Given the description of an element on the screen output the (x, y) to click on. 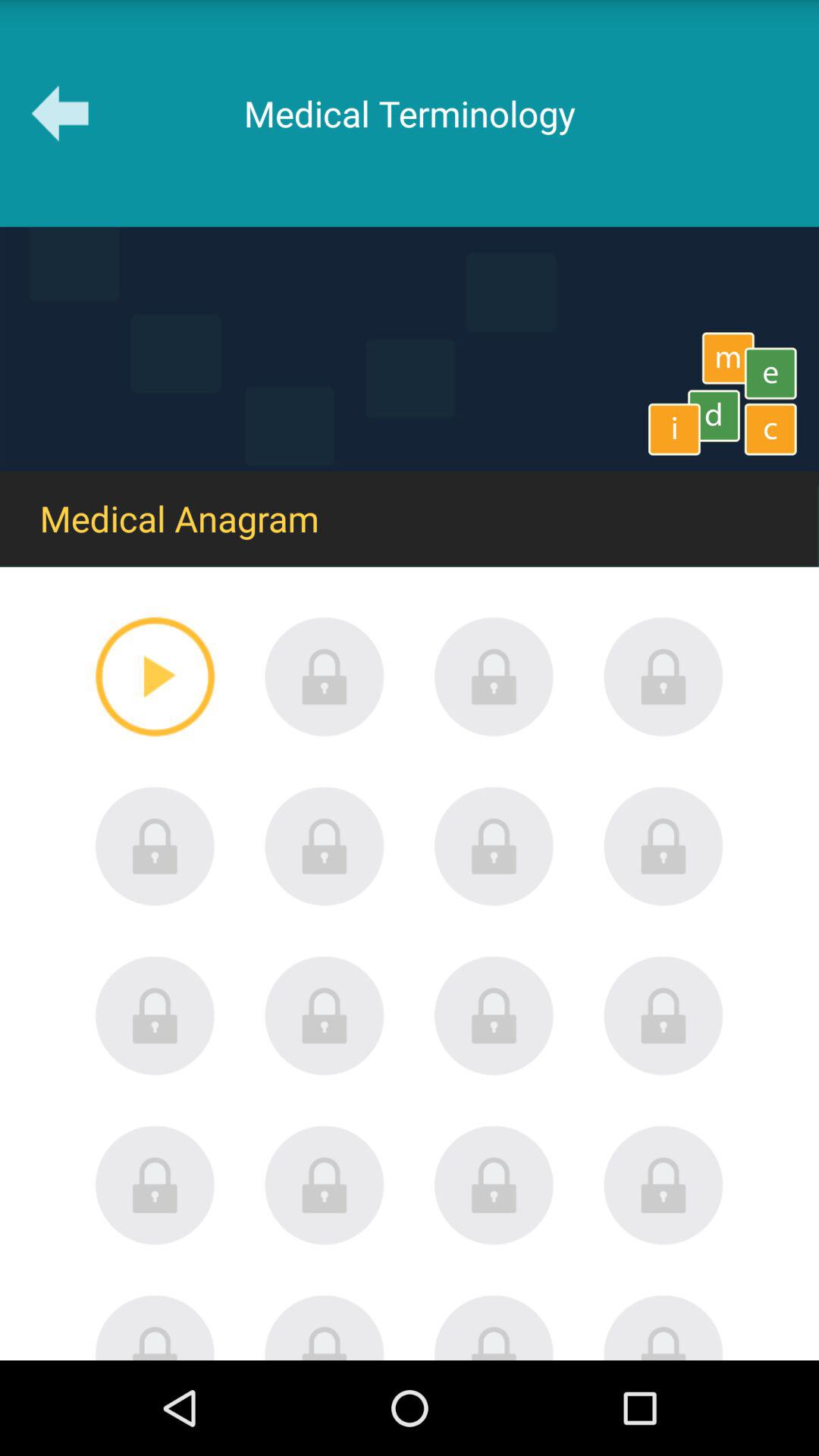
select locked term (324, 846)
